Given the description of an element on the screen output the (x, y) to click on. 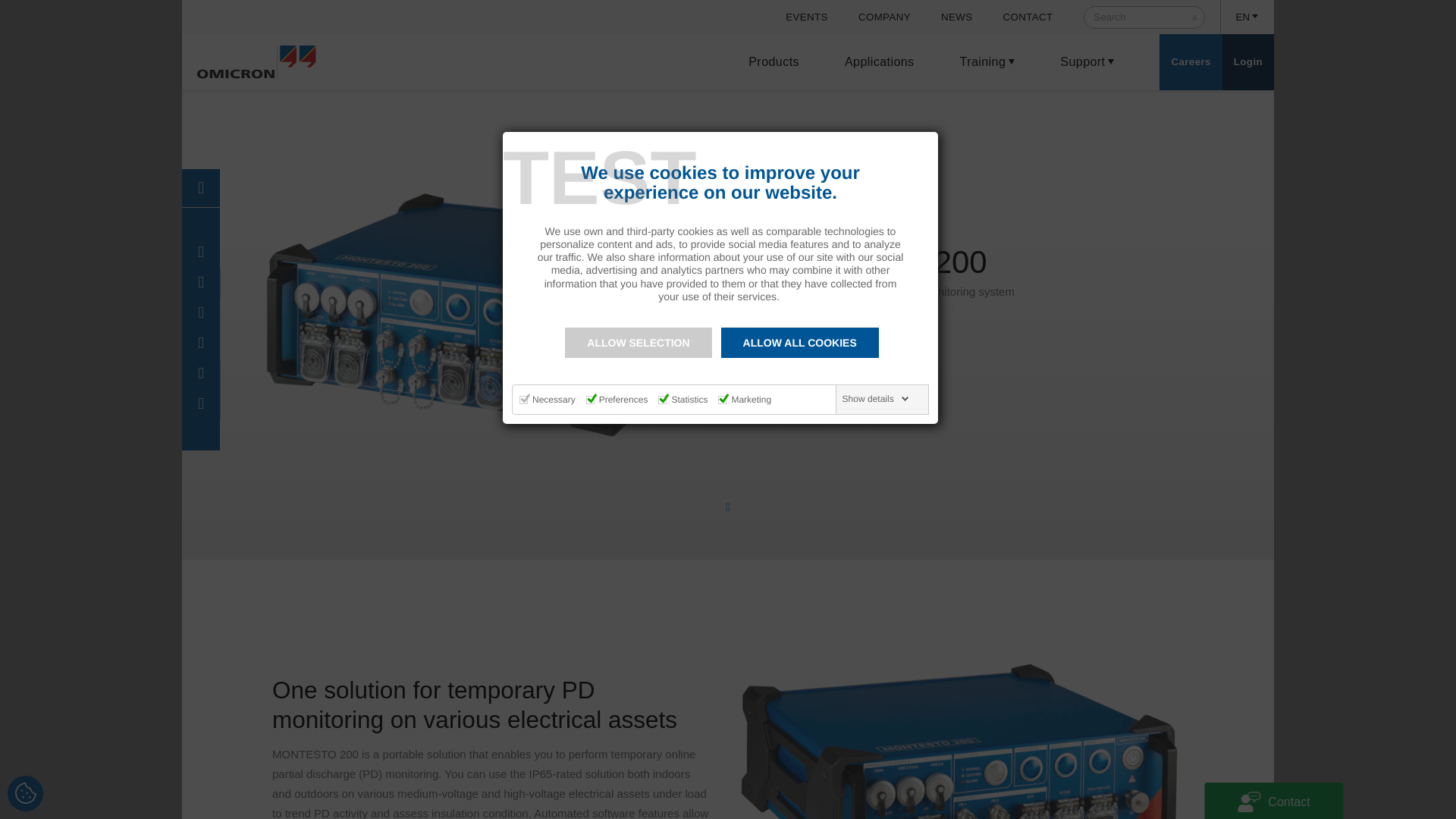
Show details (876, 398)
ALLOW SELECTION (637, 342)
ALLOW ALL COOKIES (799, 342)
